Given the description of an element on the screen output the (x, y) to click on. 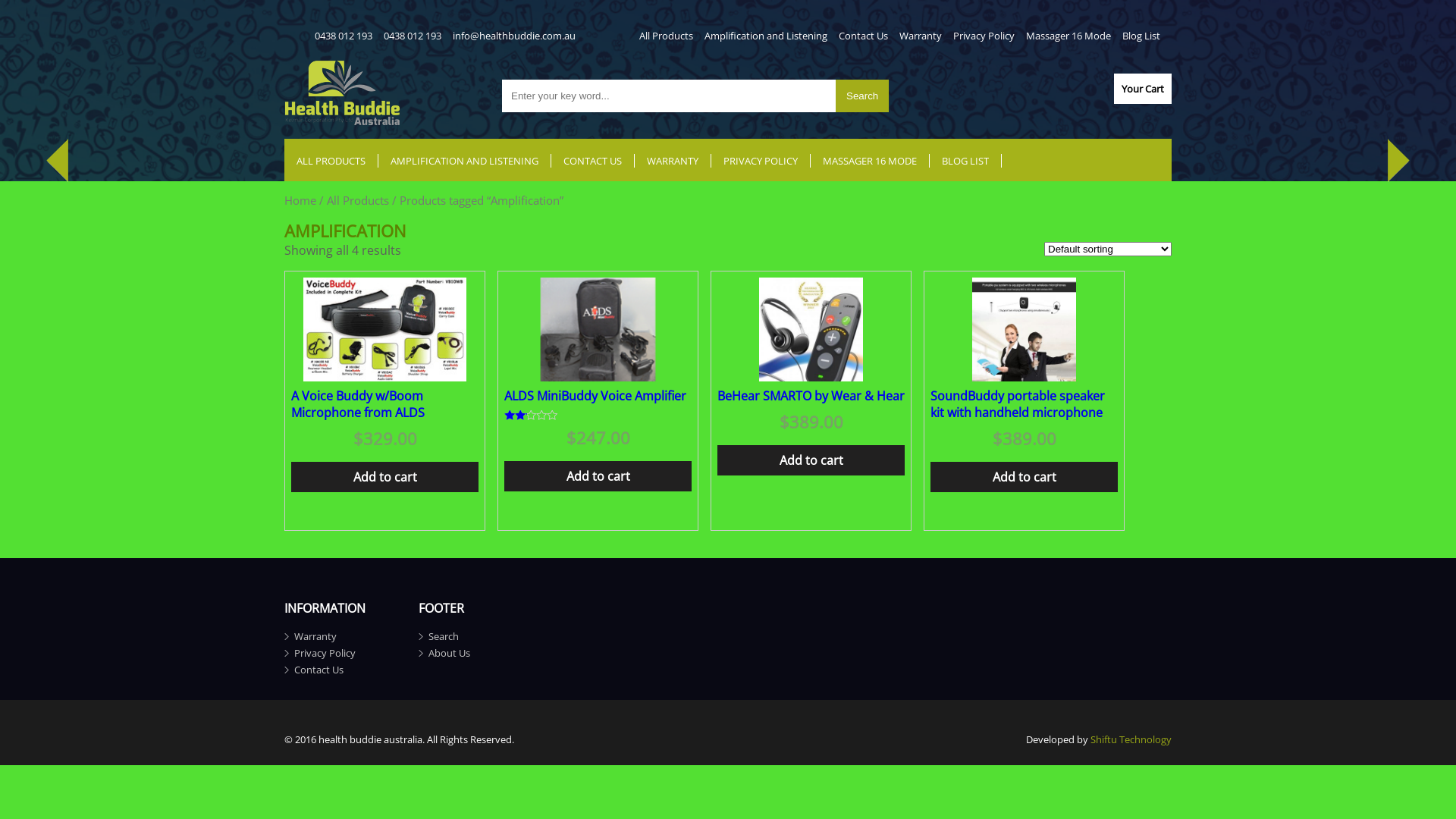
Privacy Policy Element type: text (983, 35)
All Products Element type: text (357, 199)
Add to cart Element type: text (810, 460)
A Voice Buddy w/Boom Microphone from ALDS
$329.00 Element type: text (384, 381)
All Products Element type: text (666, 35)
Massager 16 Mode Element type: text (1068, 35)
BLOG LIST Element type: text (965, 160)
Search Element type: text (861, 95)
Health Buddie Australia Element type: hover (342, 120)
Add to cart Element type: text (384, 476)
0438 012 193 Element type: text (412, 35)
PRIVACY POLICY Element type: text (760, 160)
Warranty Element type: text (920, 35)
Home Element type: text (300, 199)
Amplification and Listening Element type: text (765, 35)
ALL PRODUCTS Element type: text (331, 160)
Contact Us Element type: text (318, 669)
BeHear SMARTO by Wear & Hear
$389.00 Element type: text (810, 372)
AMPLIFICATION AND LISTENING Element type: text (464, 160)
Warranty Element type: text (315, 636)
0438 012 193 Element type: text (343, 35)
info@healthbuddie.com.au Element type: text (513, 35)
CONTACT US Element type: text (592, 160)
Blog List Element type: text (1141, 35)
Privacy Policy Element type: text (324, 652)
Add to cart Element type: text (1023, 476)
Shiftu Technology Element type: text (1130, 739)
Search Element type: text (443, 636)
Add to cart Element type: text (597, 476)
ALDS MiniBuddy Voice Amplifier
Rated
out of 5
$247.00 Element type: text (597, 380)
WARRANTY Element type: text (672, 160)
MASSAGER 16 MODE Element type: text (869, 160)
Contact Us Element type: text (863, 35)
About Us Element type: text (449, 652)
